Given the description of an element on the screen output the (x, y) to click on. 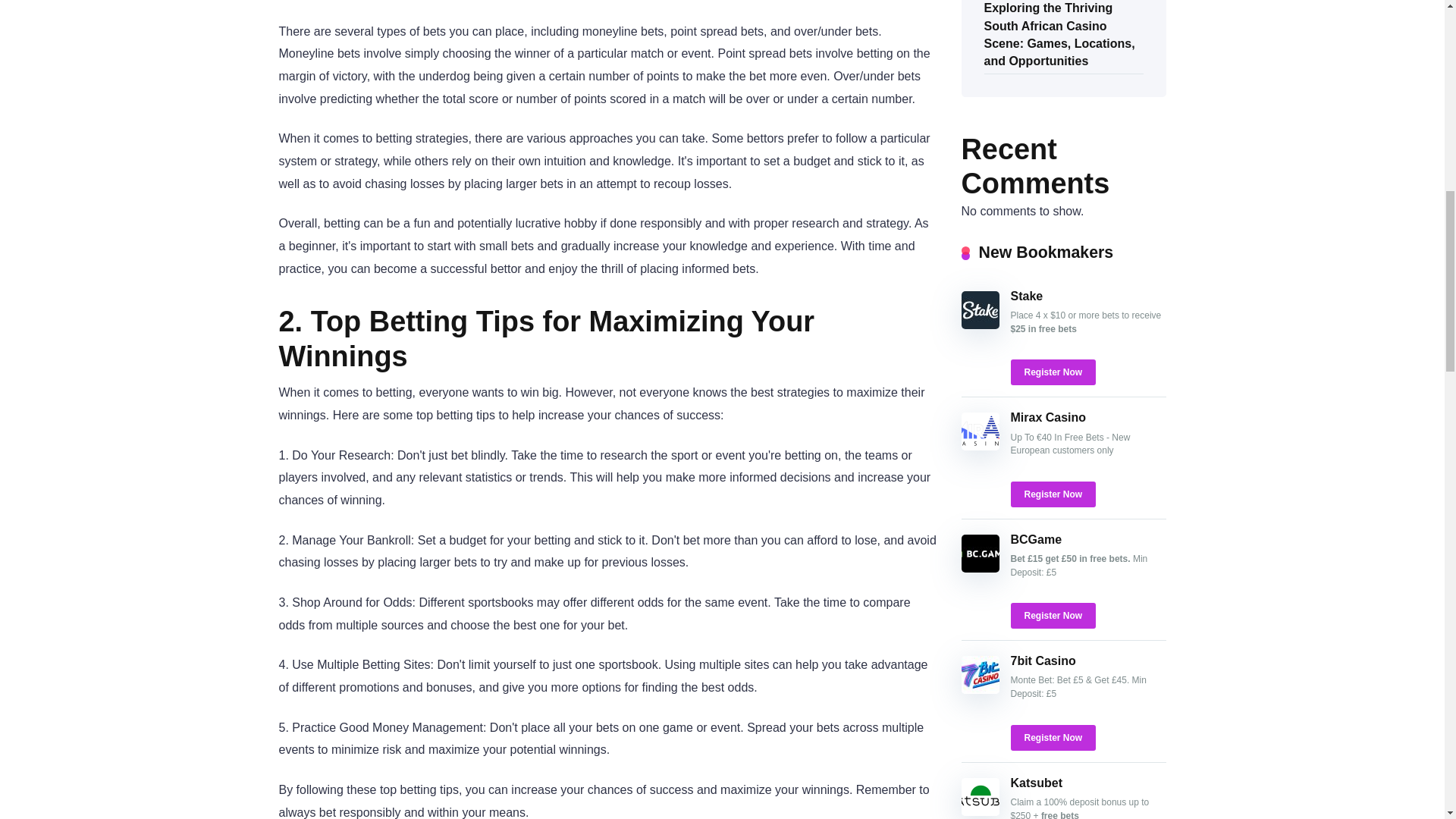
Register Now (1053, 615)
Mirax Casino (979, 445)
Stake (979, 324)
Register Now (1053, 371)
Register Now (1053, 493)
BCGame (1035, 539)
Register Now (1053, 737)
BCGame (1035, 539)
Katsubet (1035, 782)
